Given the description of an element on the screen output the (x, y) to click on. 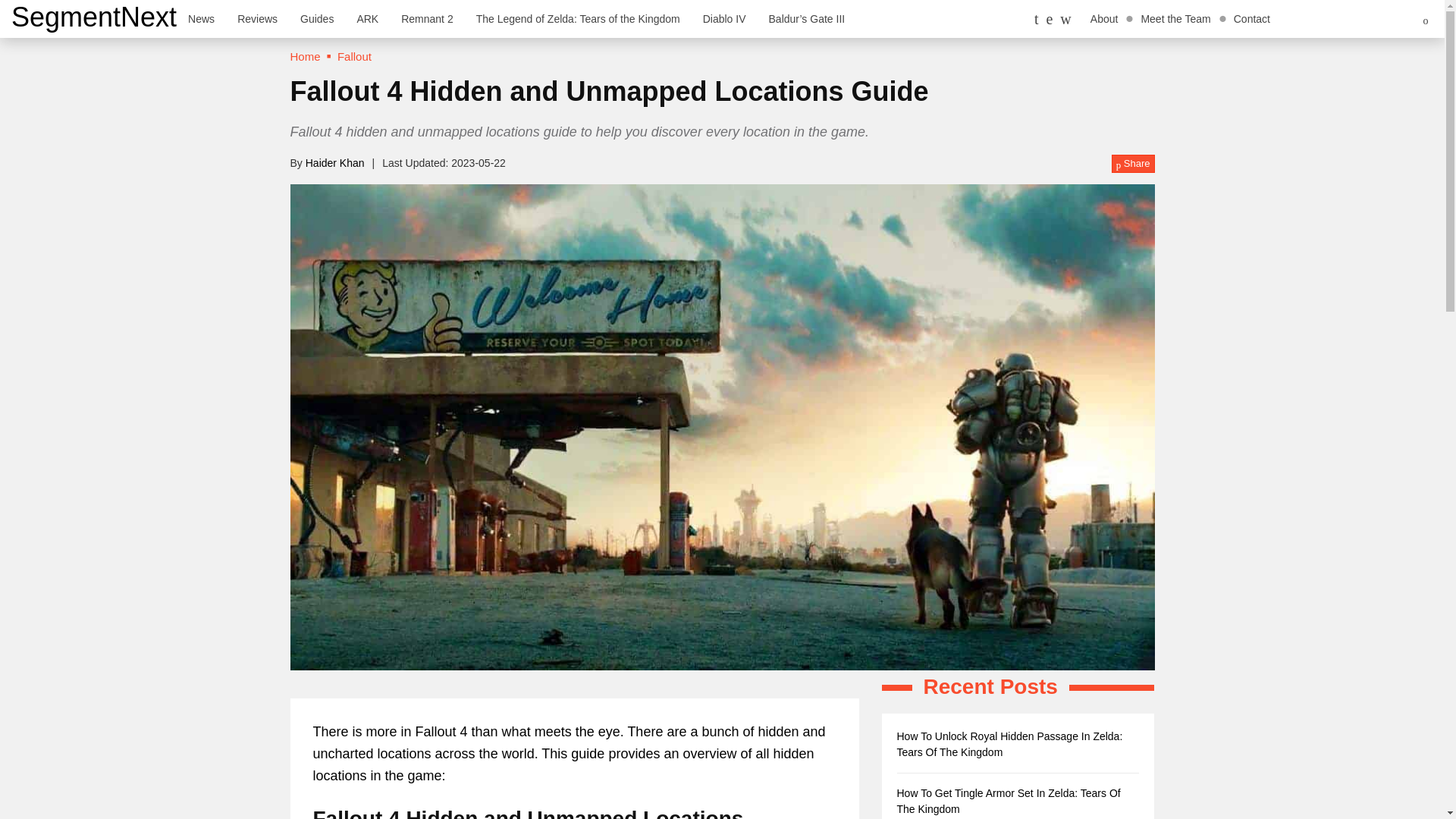
Contact (1252, 18)
Meet the Team (1175, 18)
SegmentNext (93, 16)
About (1103, 18)
Home (304, 56)
Share (1133, 163)
Reviews (256, 18)
The Legend of Zelda: Tears of the Kingdom (577, 18)
Fallout (354, 56)
